Given the description of an element on the screen output the (x, y) to click on. 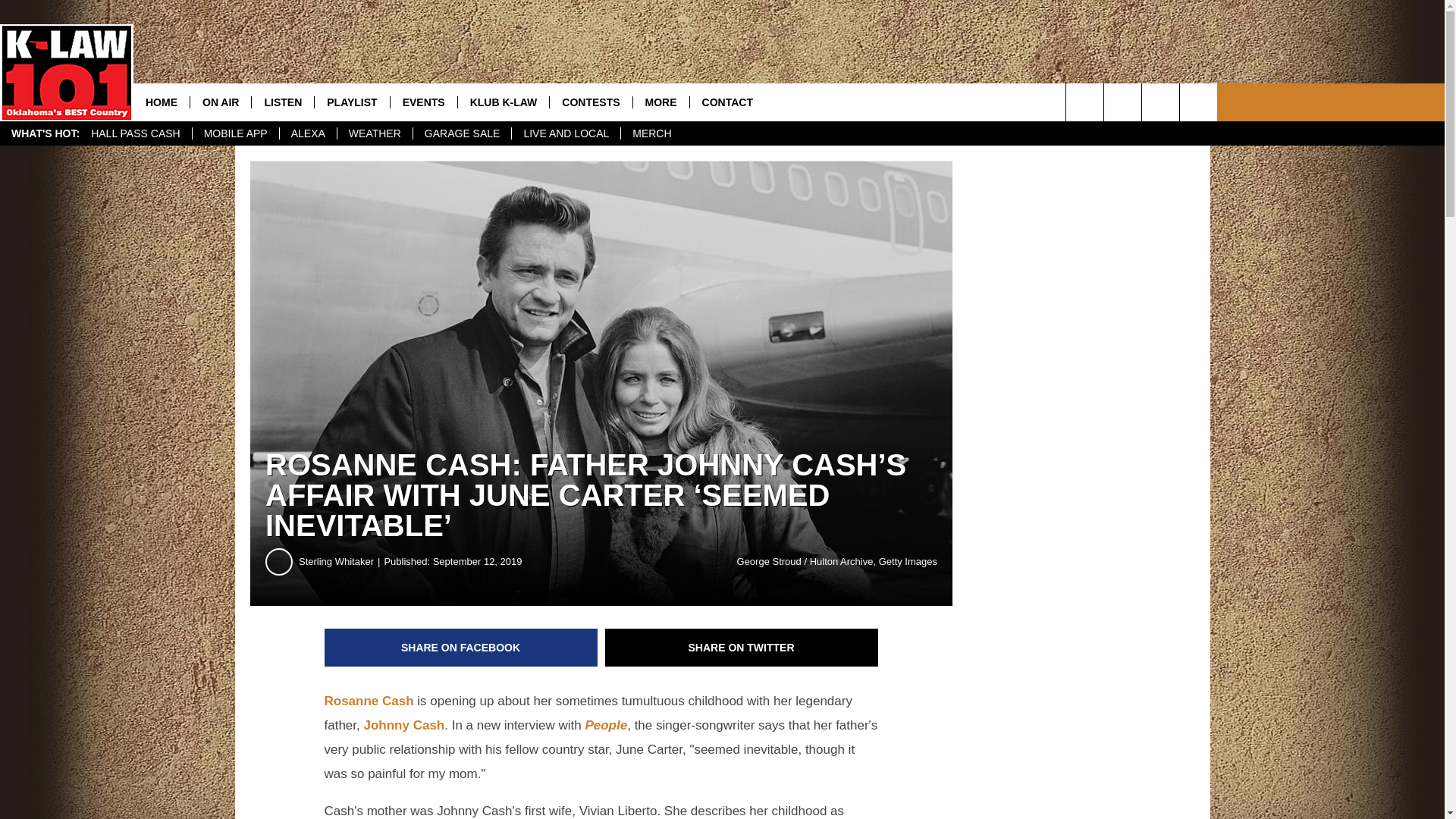
HALL PASS CASH (136, 133)
MOBILE APP (235, 133)
Share on Facebook (460, 647)
PLAYLIST (351, 102)
GARAGE SALE (462, 133)
KLUB K-LAW (503, 102)
CONTESTS (589, 102)
ON AIR (219, 102)
WEATHER (374, 133)
EVENTS (423, 102)
